Given the description of an element on the screen output the (x, y) to click on. 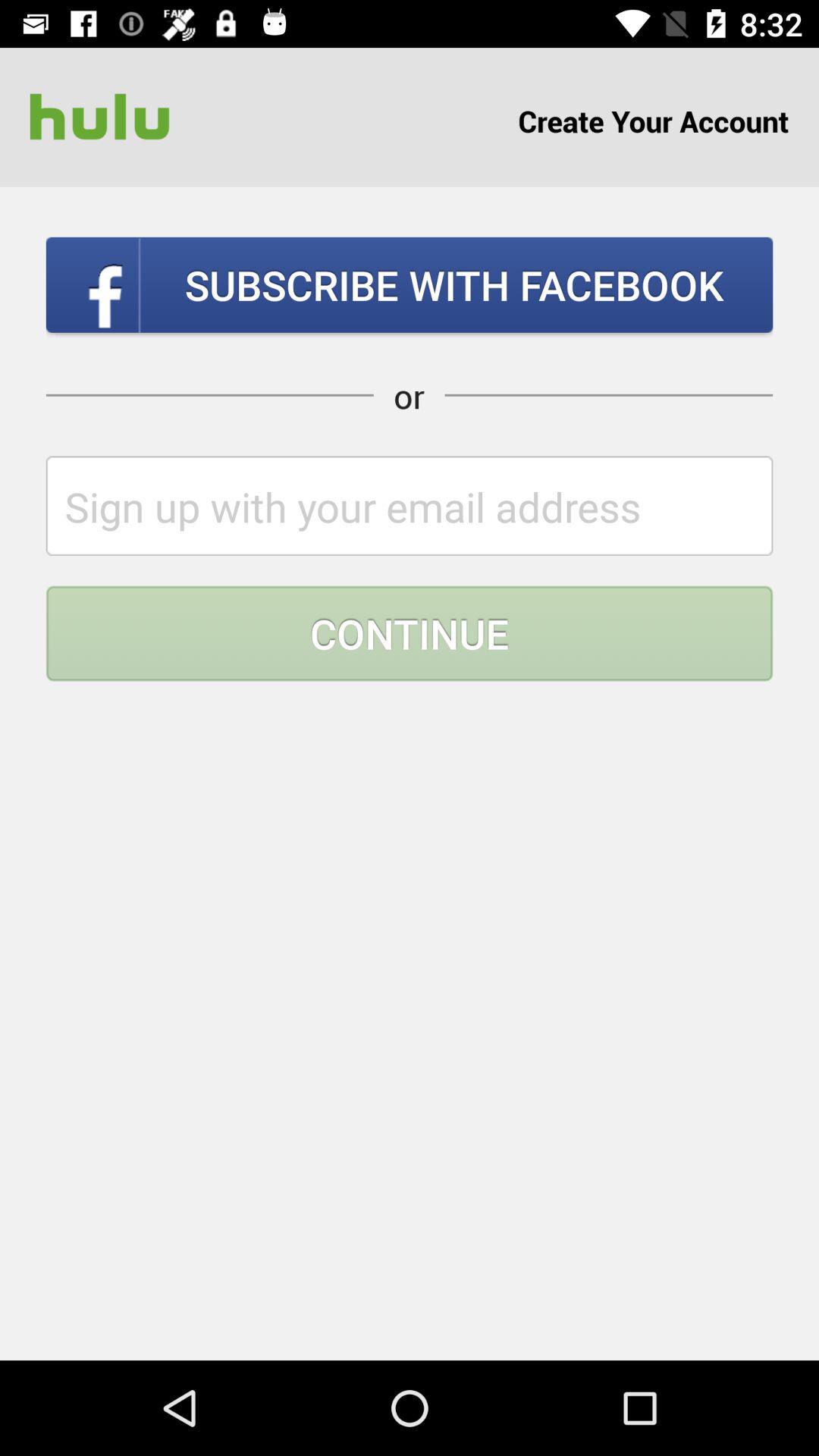
type your email address (409, 505)
